Given the description of an element on the screen output the (x, y) to click on. 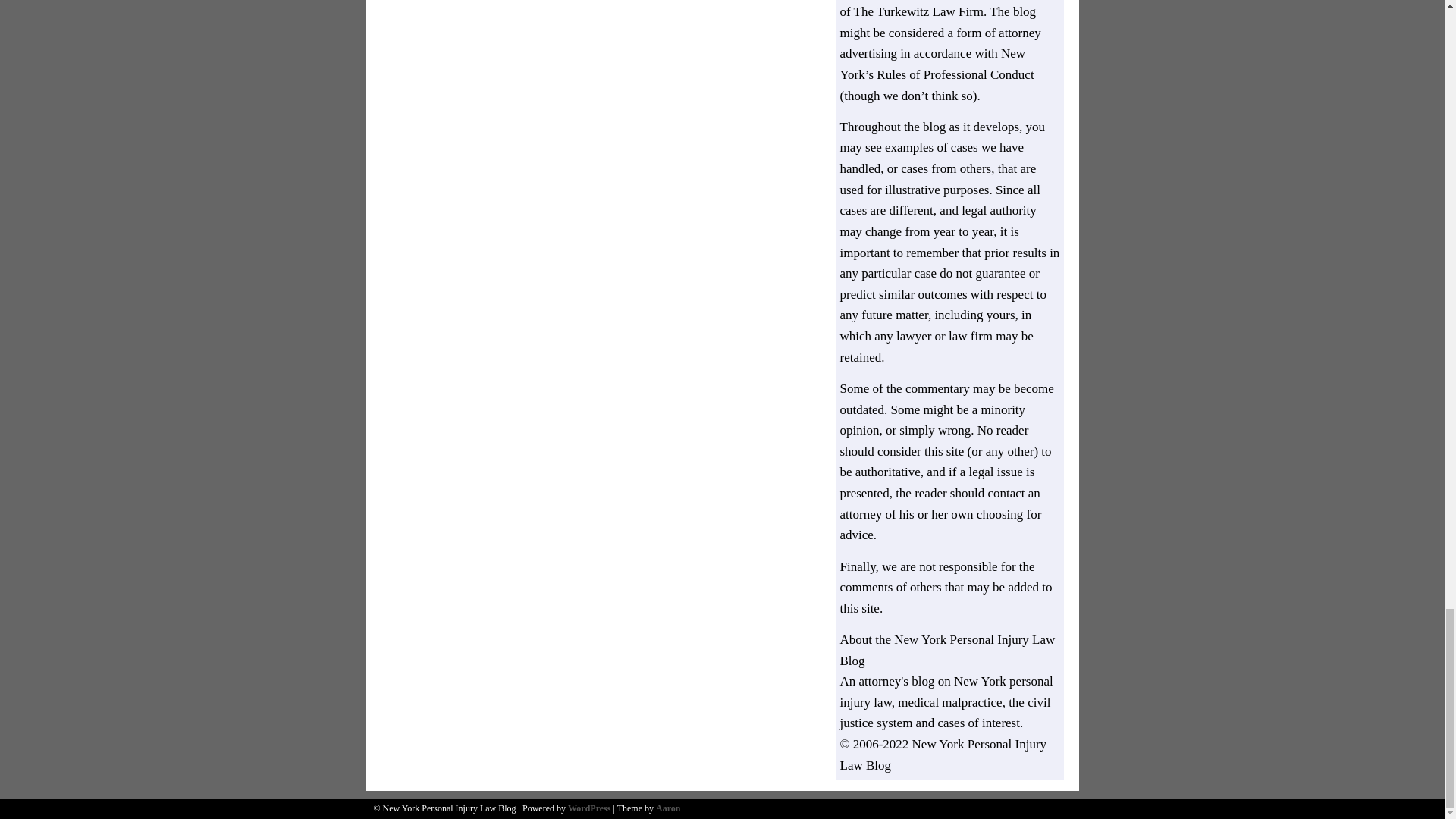
Freelance Theme Developer (667, 808)
Semantic Personal Publishing Platform (588, 808)
